Given the description of an element on the screen output the (x, y) to click on. 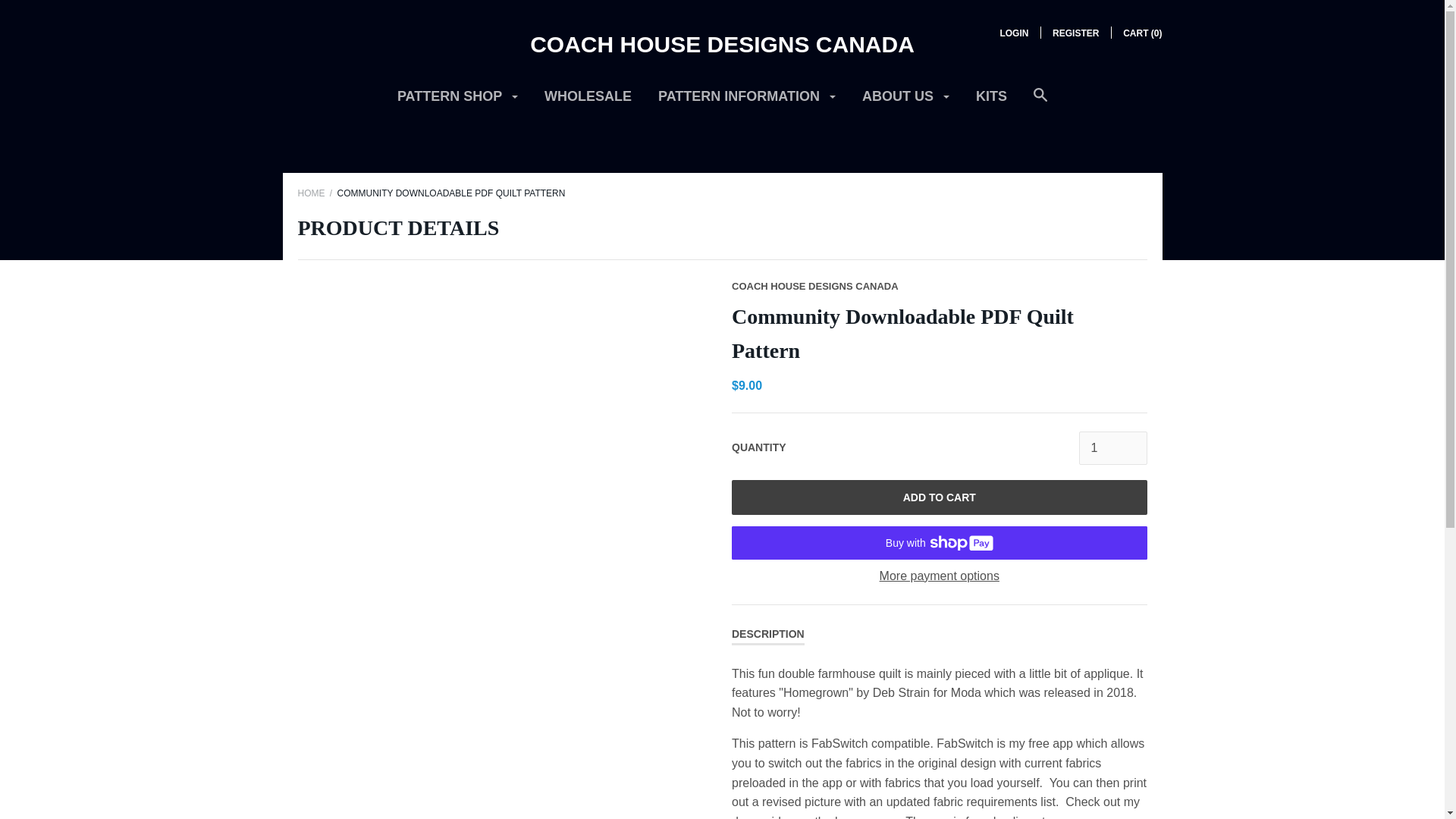
COACH HOUSE DESIGNS CANADA (721, 43)
KITS (991, 101)
WHOLESALE (587, 101)
REGISTER (1075, 32)
LOGIN (1012, 32)
1 (1112, 448)
PATTERN SHOP (457, 101)
ABOUT US (905, 101)
HOME (310, 193)
PATTERN INFORMATION (746, 101)
